Given the description of an element on the screen output the (x, y) to click on. 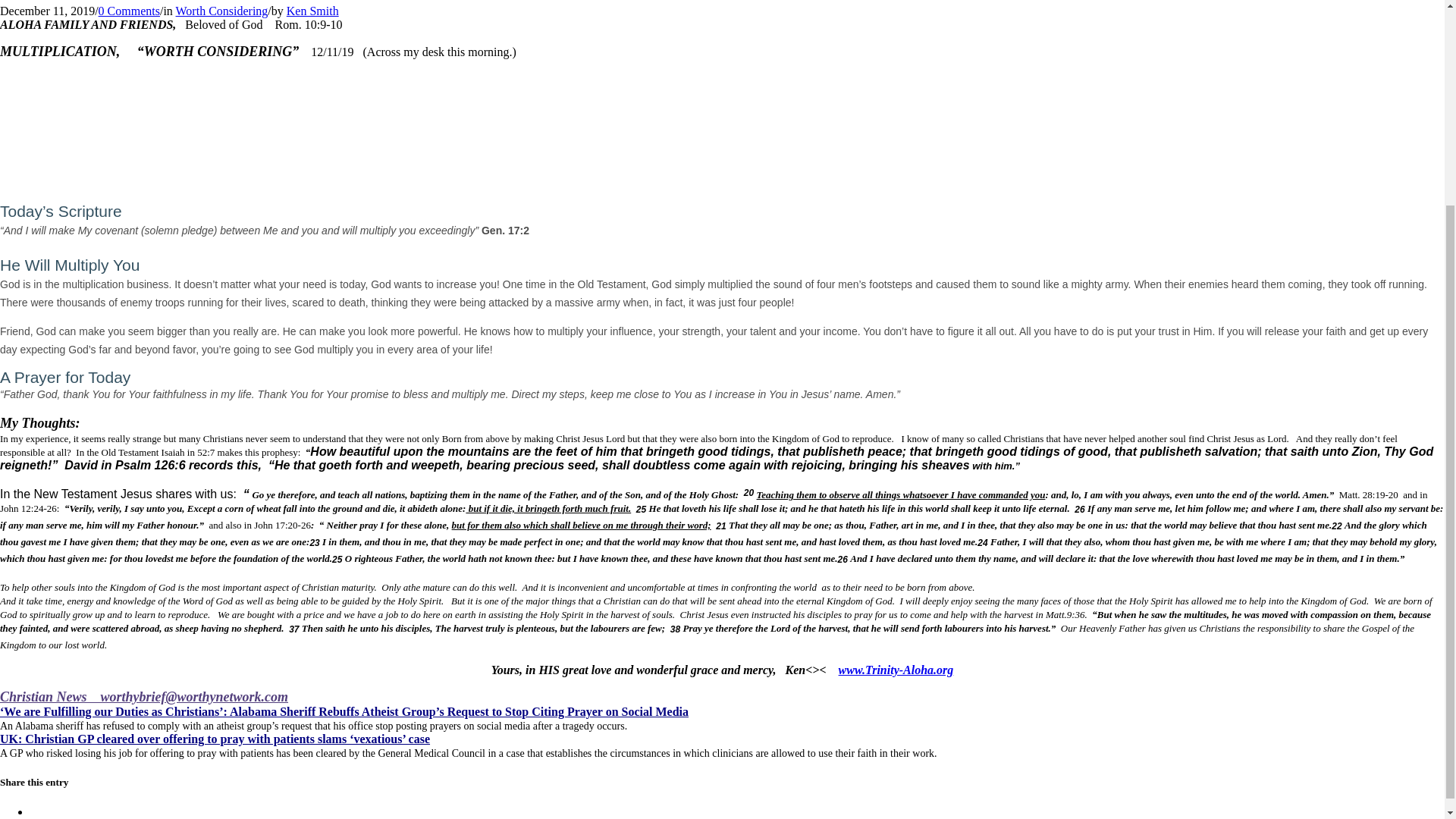
Ken Smith (312, 10)
www.Trinity-Aloha.org (895, 669)
0 Comments (129, 10)
Worth Considering (221, 10)
Posts by Ken Smith (312, 10)
